Given the description of an element on the screen output the (x, y) to click on. 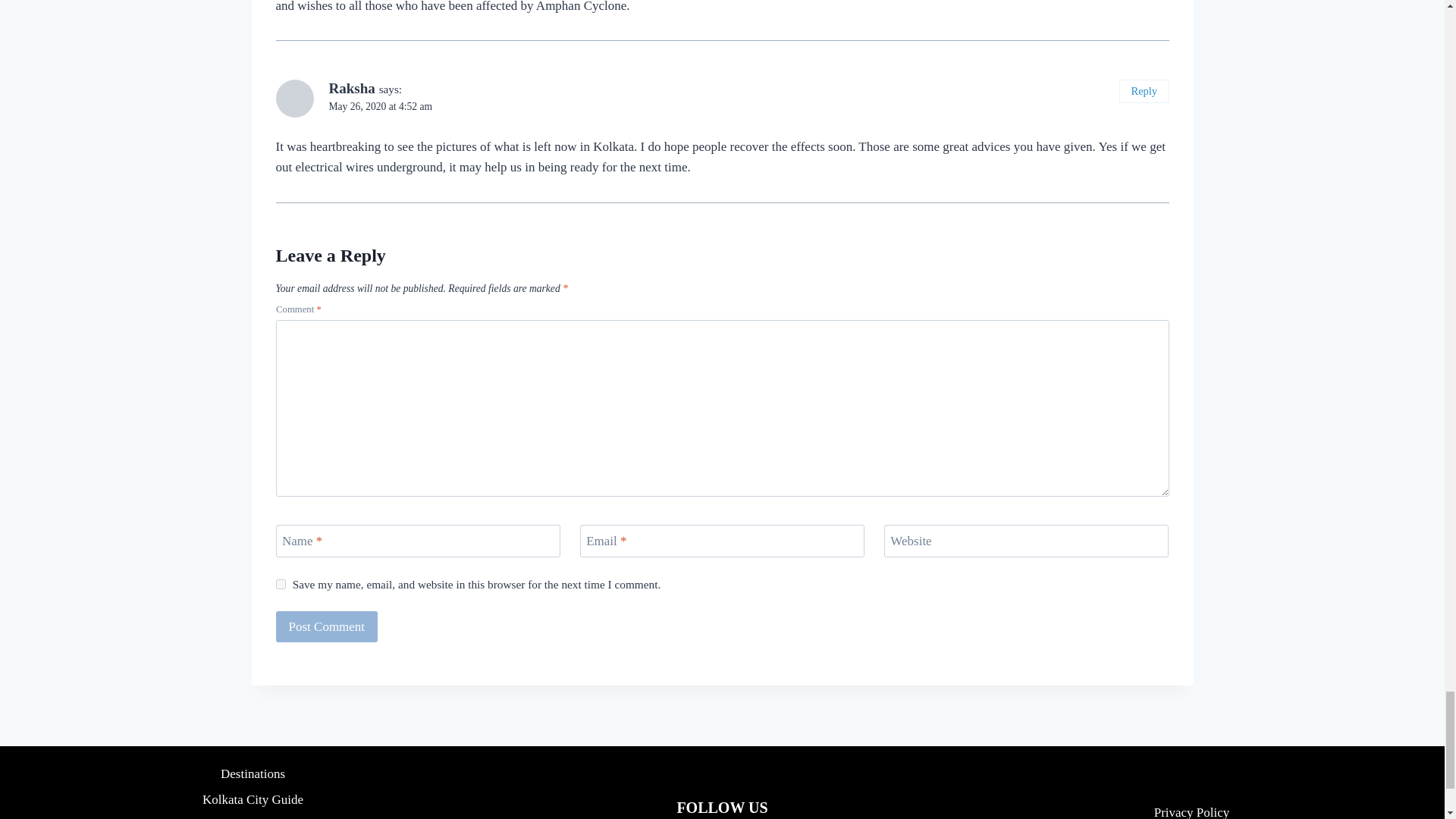
yes (280, 583)
Post Comment (327, 626)
